Given the description of an element on the screen output the (x, y) to click on. 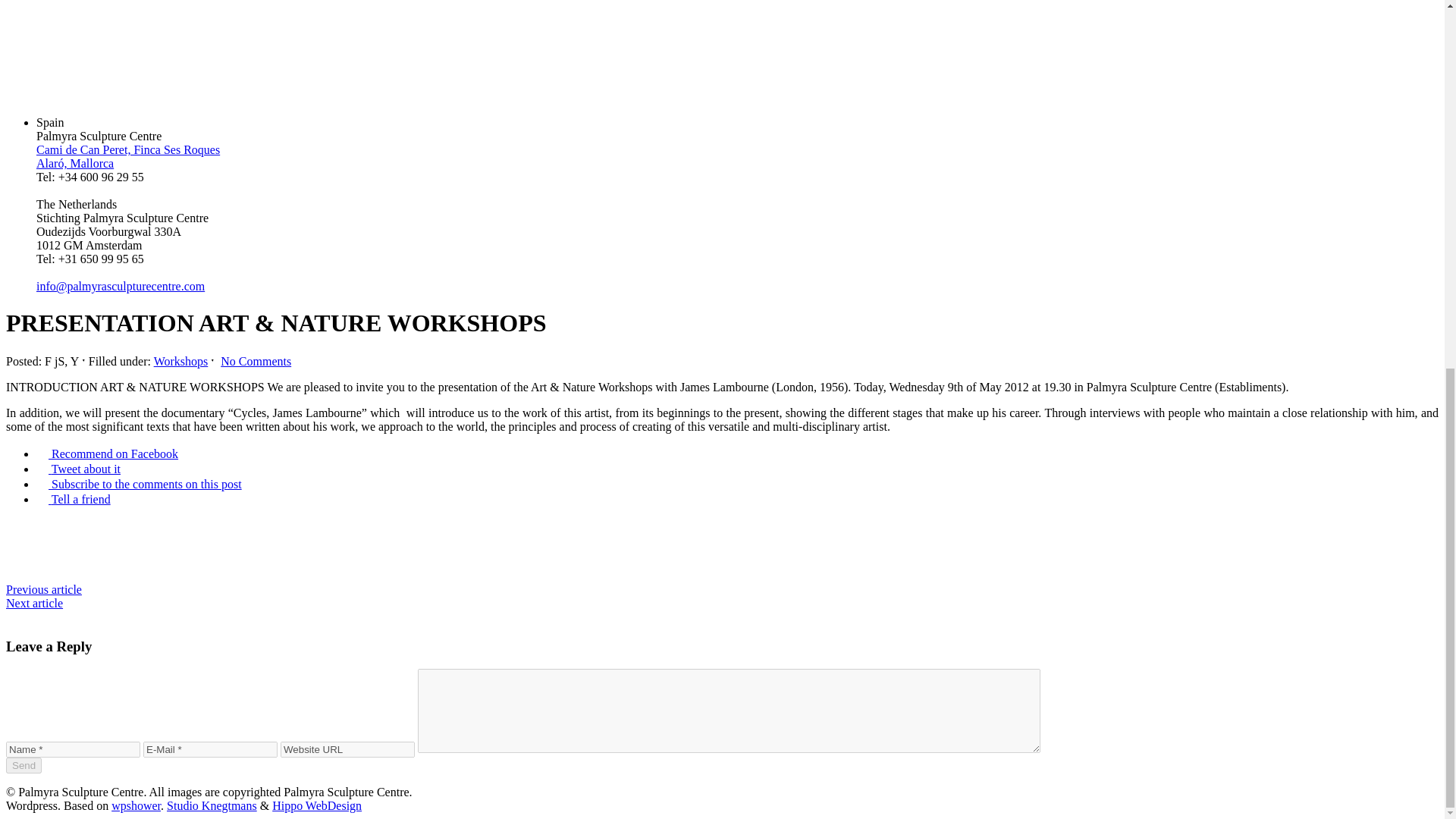
Previous article (43, 589)
Tweet about it (78, 468)
Send (23, 765)
Send (23, 765)
Hippo WebDesign (316, 805)
Recommend on Facebook (106, 453)
Workshops (181, 360)
No Comments (256, 360)
Studio Knegtmans (212, 805)
Tell a friend (73, 499)
